Given the description of an element on the screen output the (x, y) to click on. 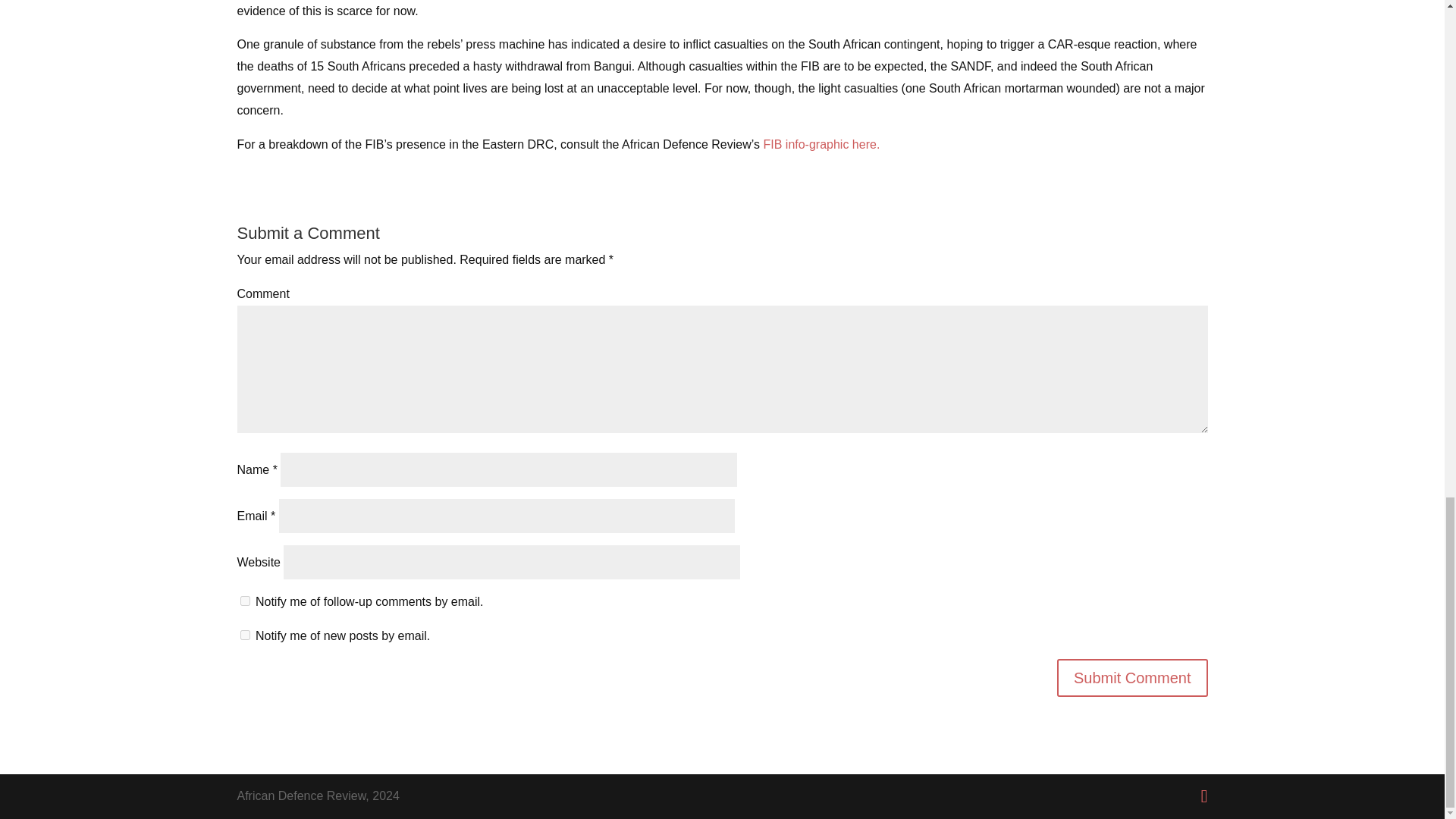
subscribe (244, 634)
Submit Comment (1132, 677)
Submit Comment (1132, 677)
subscribe (244, 601)
FIB info-graphic here. (820, 144)
